Given the description of an element on the screen output the (x, y) to click on. 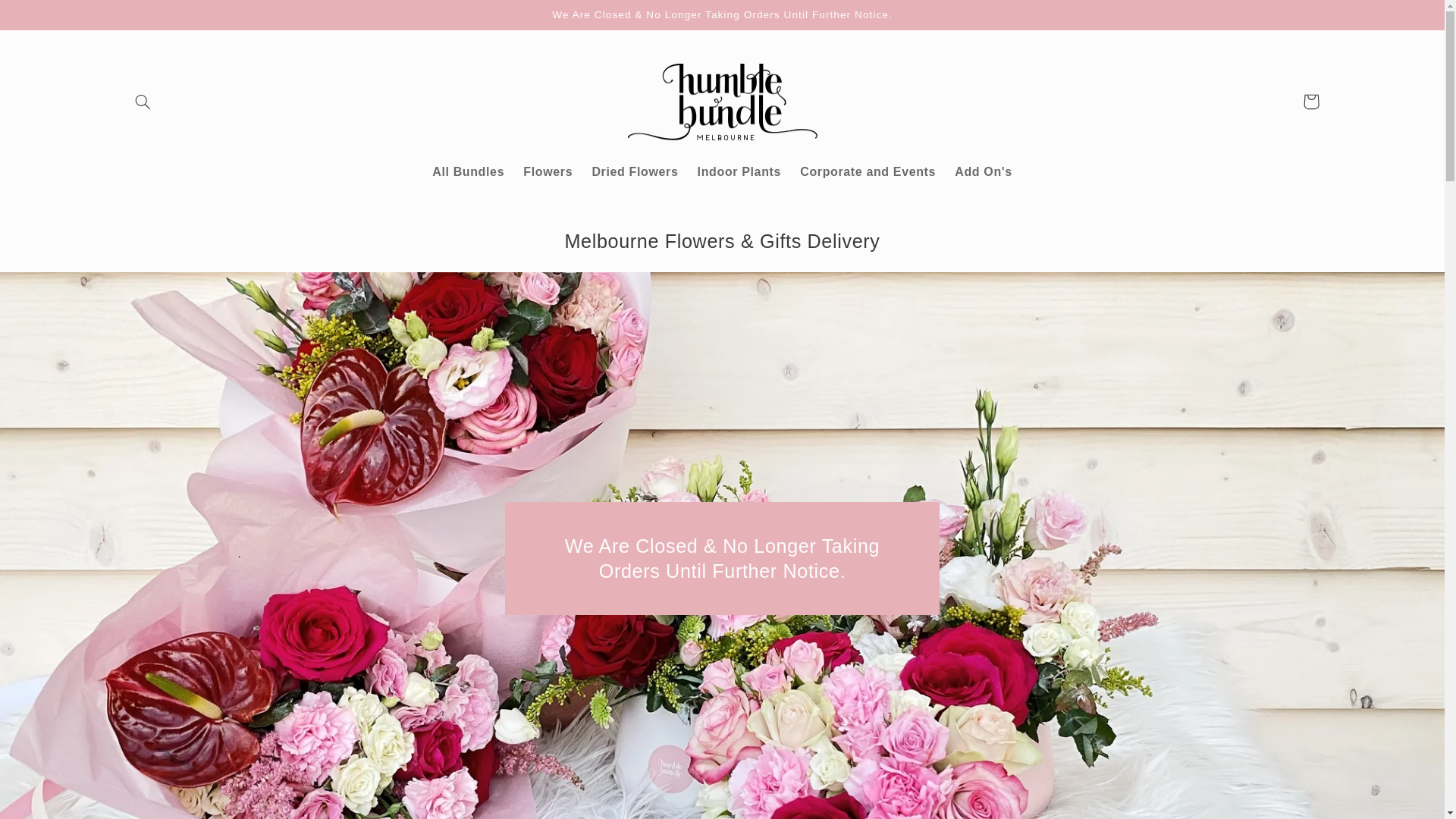
Cart Element type: text (1310, 101)
Corporate and Events Element type: text (867, 171)
Flowers Element type: text (548, 171)
All Bundles Element type: text (468, 171)
Indoor Plants Element type: text (738, 171)
Add On's Element type: text (983, 171)
Dried Flowers Element type: text (634, 171)
